Given the description of an element on the screen output the (x, y) to click on. 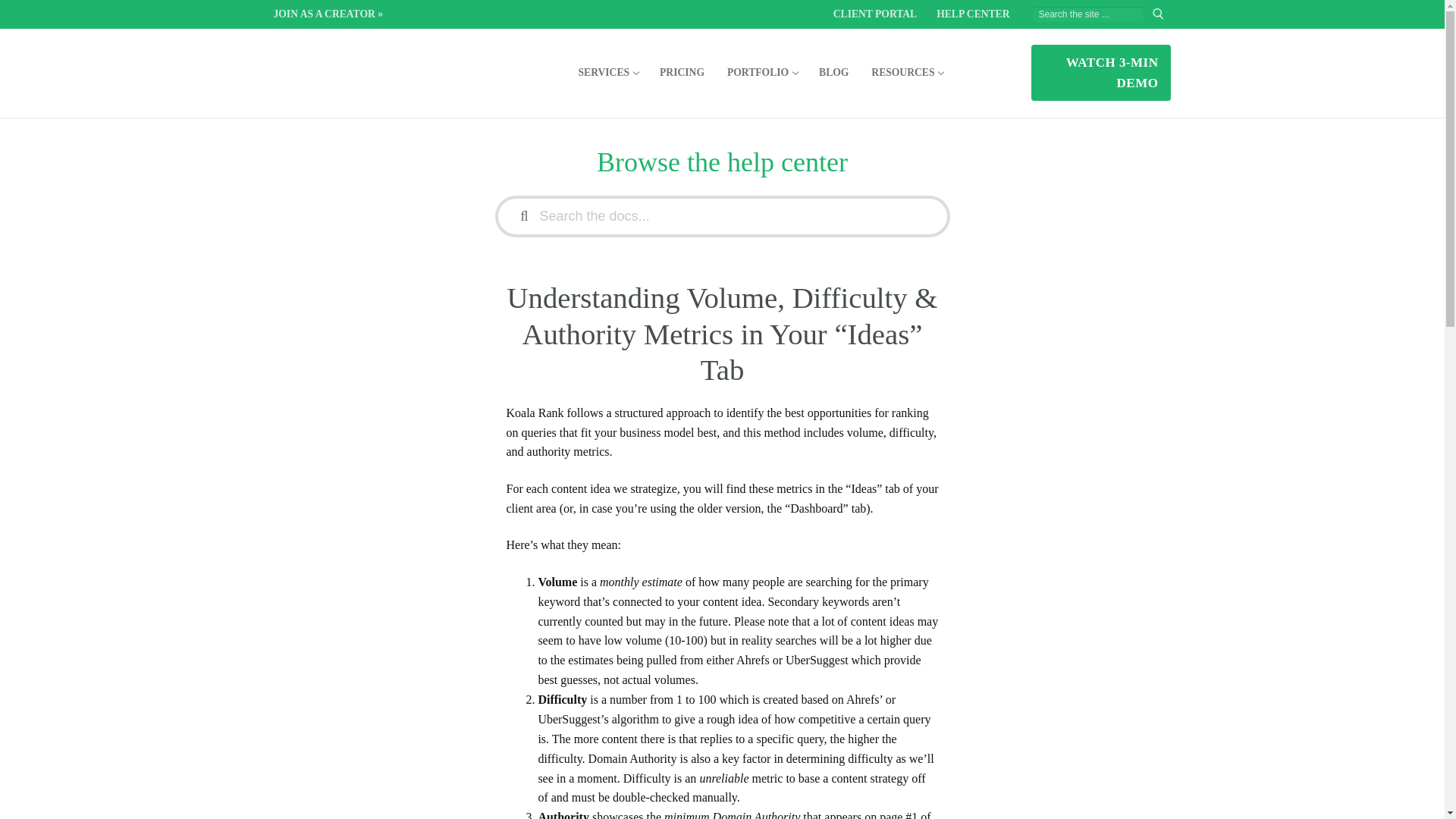
HELP CENTER (608, 72)
Search for: (906, 72)
PRICING (972, 14)
CLIENT PORTAL (1086, 14)
BLOG (681, 72)
WATCH 3-MIN DEMO (875, 14)
